Given the description of an element on the screen output the (x, y) to click on. 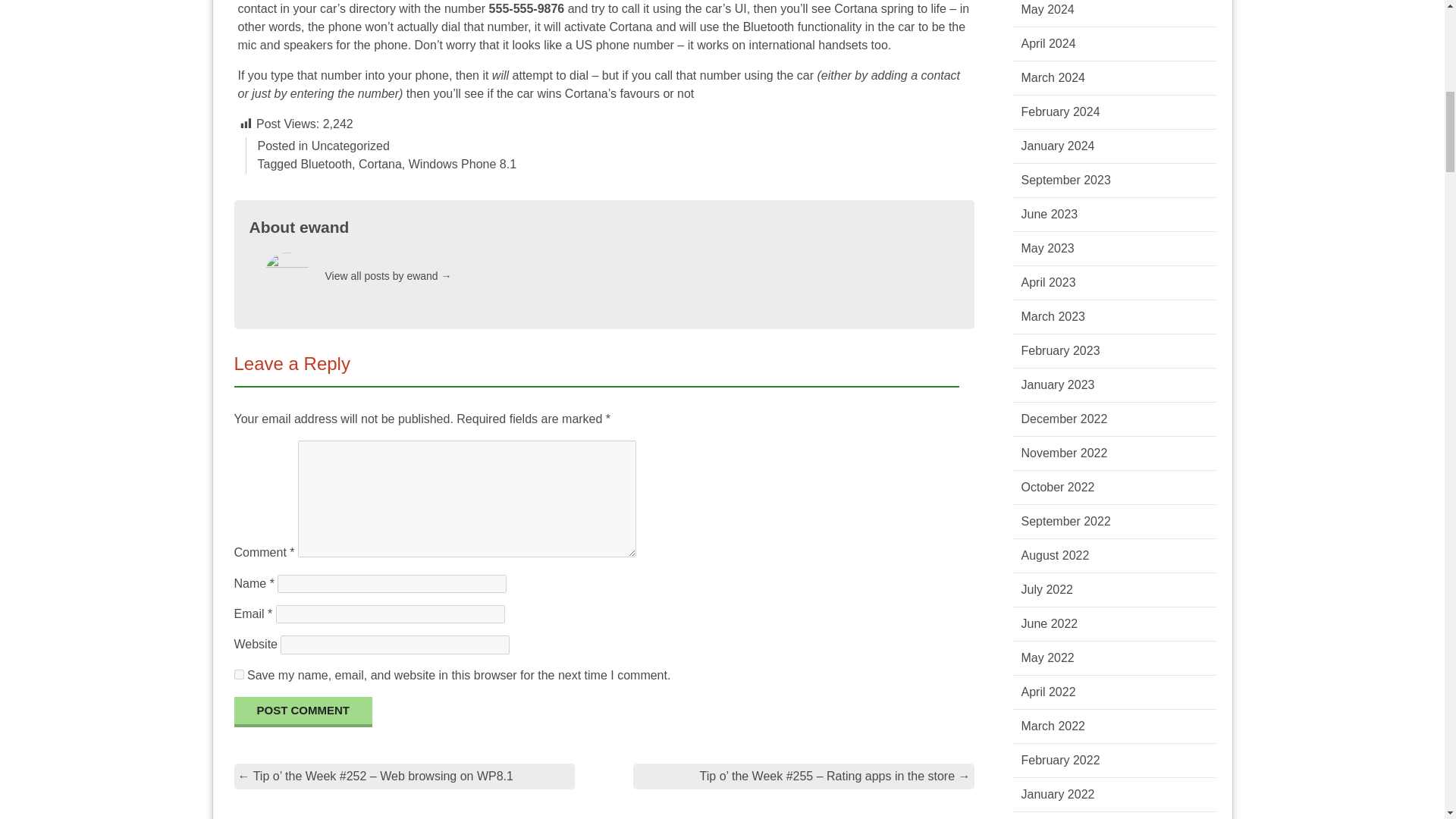
February 2024 (1059, 111)
Windows Phone 8.1 (462, 164)
Post Comment (302, 711)
yes (237, 674)
January 2024 (1057, 145)
March 2024 (1052, 77)
May 2023 (1047, 247)
Uncategorized (350, 145)
Cortana (379, 164)
April 2024 (1047, 42)
